Given the description of an element on the screen output the (x, y) to click on. 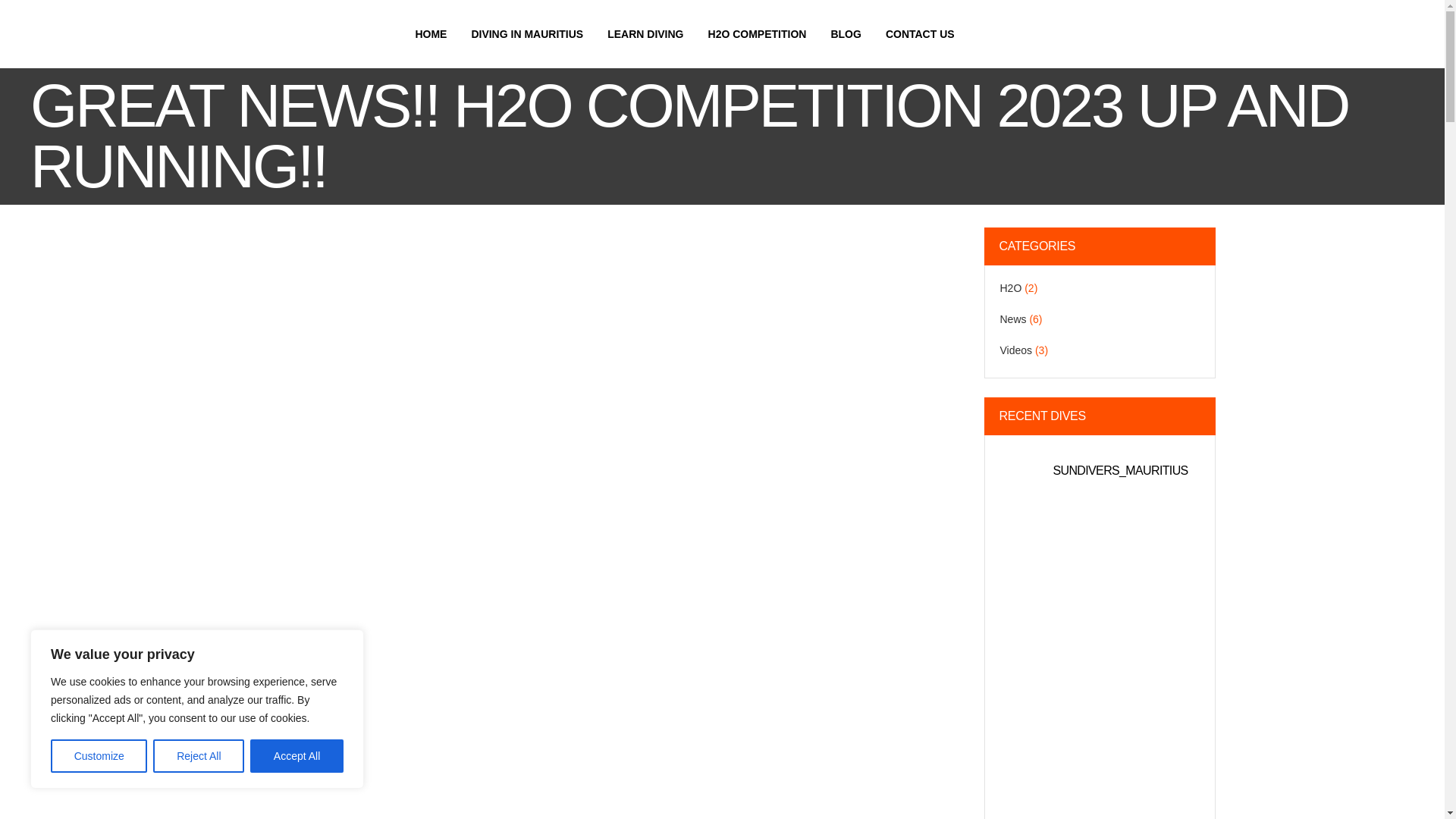
CONTACT US (919, 33)
BLOG (845, 33)
Customize (98, 756)
Reject All (198, 756)
DIVING IN MAURITIUS (526, 33)
H2O COMPETITION (756, 33)
LEARN DIVING (645, 33)
Learn diving (645, 33)
Accept All (296, 756)
HOME (430, 33)
